Given the description of an element on the screen output the (x, y) to click on. 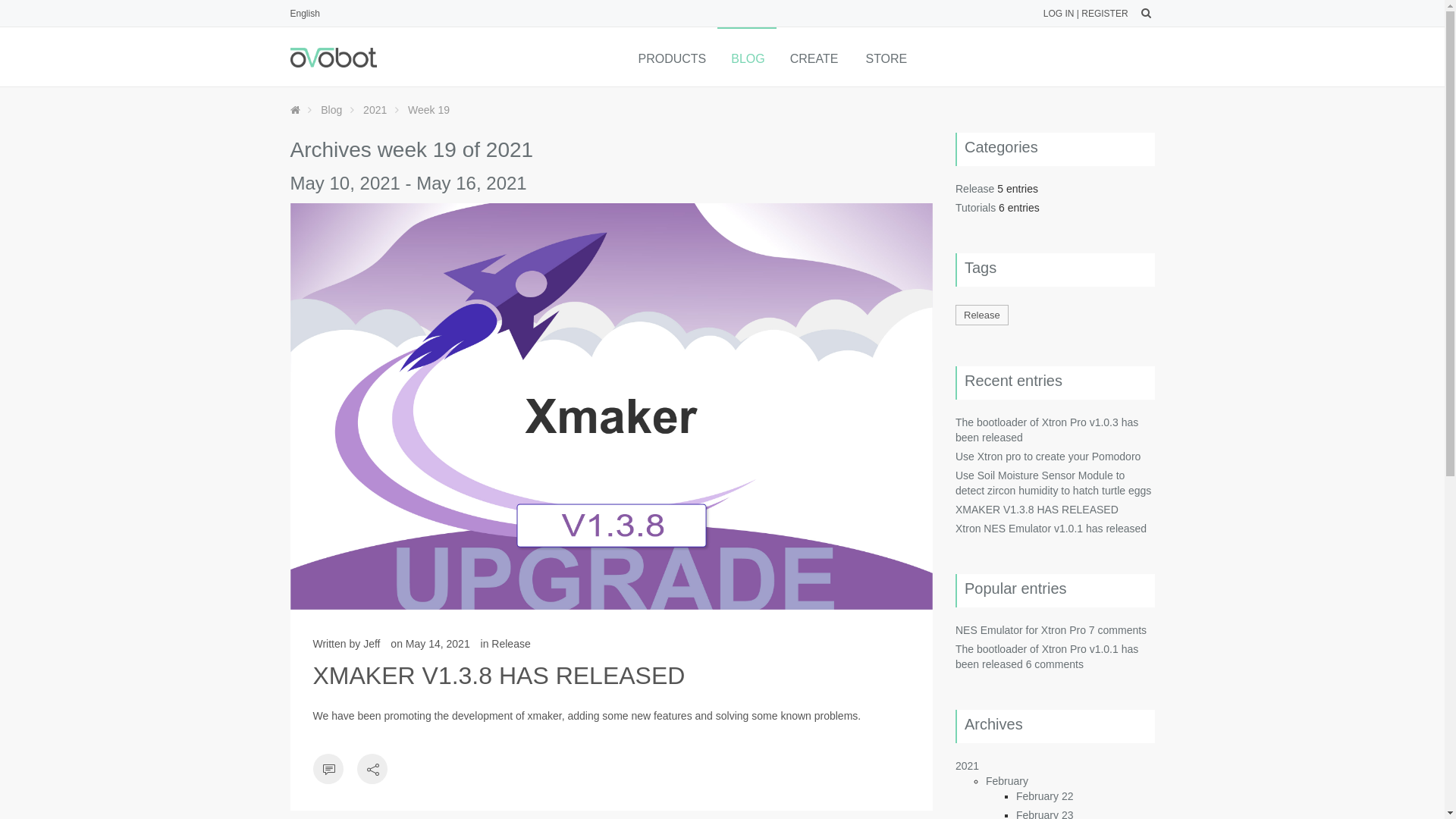
BLOG Element type: text (746, 56)
2021 Element type: text (374, 109)
PRODUCTS Element type: text (670, 56)
Release Element type: text (510, 643)
English Element type: text (304, 13)
Use Xtron pro to create your Pomodoro Element type: text (1047, 456)
Blog Element type: text (331, 109)
6 comments Element type: text (1054, 664)
Leave a comment on XMAKER V1.3.8 HAS RELEASED Element type: hover (327, 771)
Jeff Element type: text (371, 643)
2021 Element type: text (967, 765)
XMAKER V1.3.8 HAS RELEASED Element type: hover (610, 406)
Release Element type: text (981, 314)
Categories Element type: text (1001, 146)
February 22 Element type: text (1044, 796)
The bootloader of Xtron Pro v1.0.1 has been released Element type: text (1046, 656)
LOG IN Element type: text (1058, 13)
Tutorials Element type: text (975, 207)
7 comments Element type: text (1117, 630)
Xtron NES Emulator v1.0.1 has released Element type: text (1050, 528)
Tags Element type: text (980, 267)
NES Emulator for Xtron Pro Element type: text (1020, 630)
February Element type: text (1006, 781)
REGISTER Element type: text (1104, 13)
STORE Element type: text (884, 56)
XMAKER V1.3.8 HAS RELEASED Element type: text (1036, 509)
The bootloader of Xtron Pro v1.0.3 has been released Element type: text (1046, 429)
Release Element type: text (974, 188)
CREATE Element type: text (814, 56)
XMAKER V1.3.8 HAS RELEASED Element type: text (498, 675)
